Given the description of an element on the screen output the (x, y) to click on. 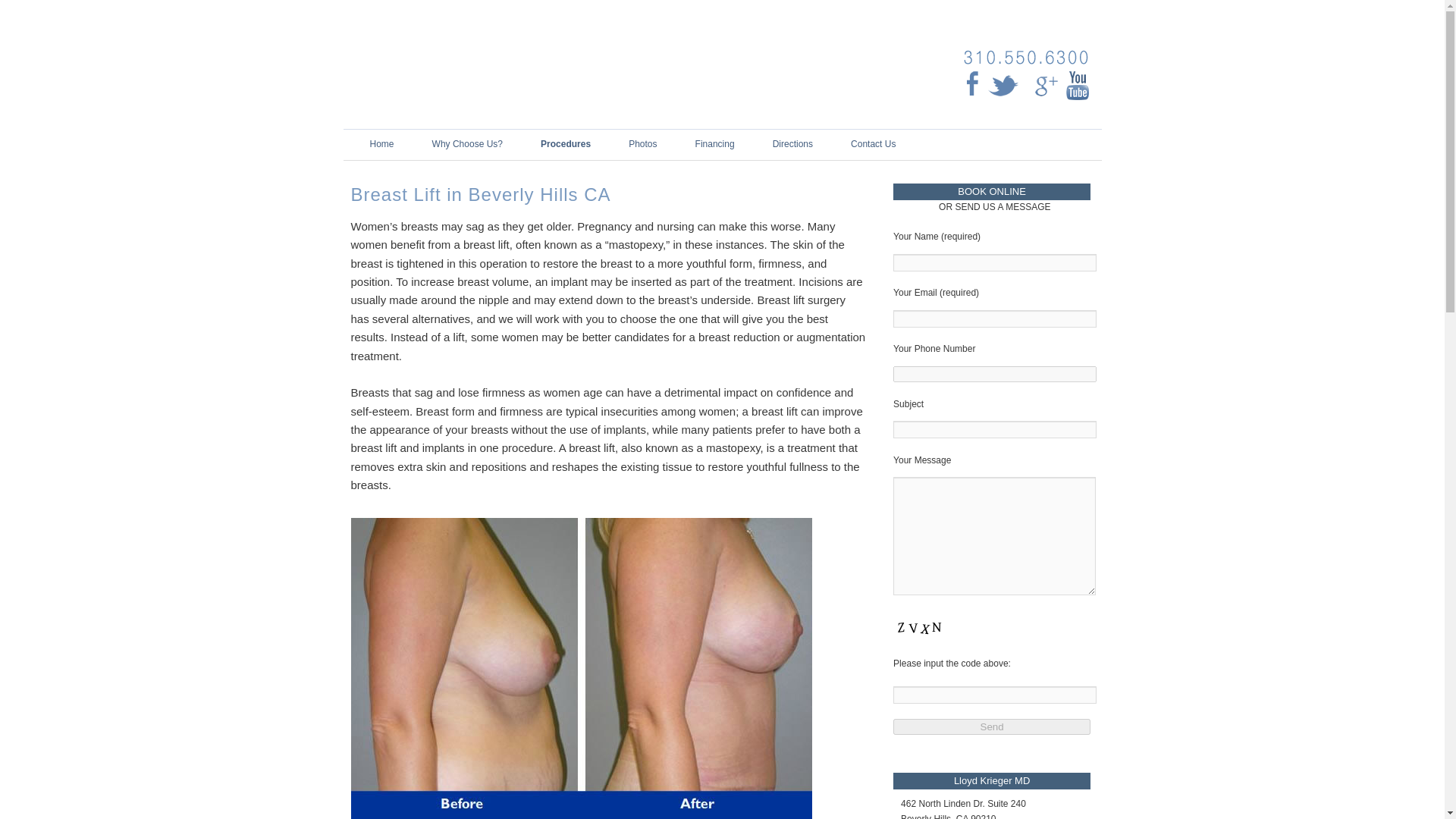
Skip to primary content (401, 144)
Contact Us (873, 144)
Skip to secondary content (407, 144)
View Our Youtube Channel (1077, 83)
Skip to primary content (401, 144)
log into our twitter account (1005, 82)
Send (991, 726)
Call us Today 310-550-6300 (1025, 56)
look us up on google (1045, 83)
Directions (792, 144)
Photos (642, 144)
Procedures (565, 144)
Skip to secondary content (407, 144)
Financing (715, 144)
